Given the description of an element on the screen output the (x, y) to click on. 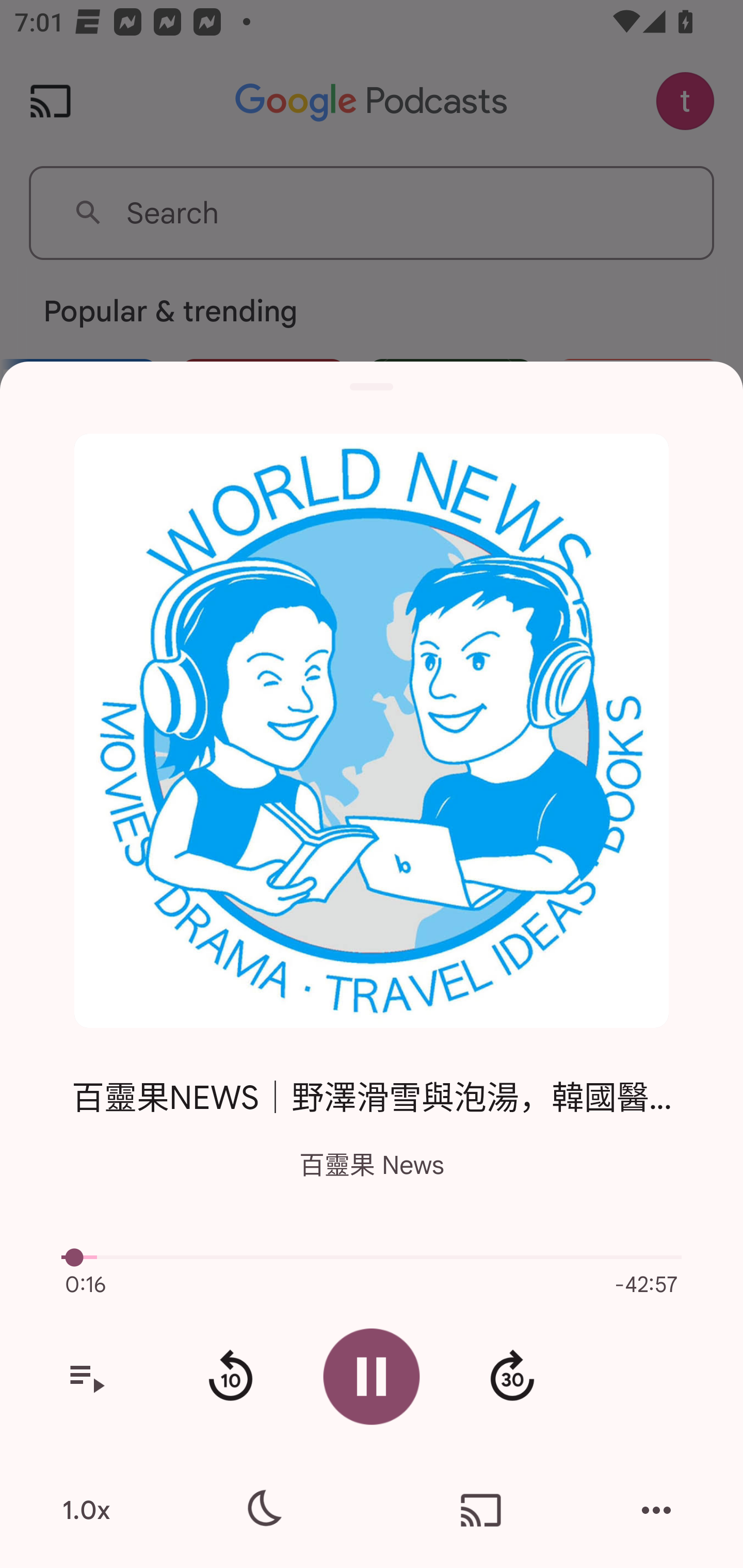
Open the show page for 百靈果 News (371, 731)
63.0 Current episode playback (371, 1257)
Pause (371, 1376)
View your queue (86, 1376)
Rewind 10 seconds (230, 1376)
Fast forward 30 second (511, 1376)
1.0x Playback speed is 1.0. (86, 1510)
Sleep timer settings (261, 1510)
Cast. Disconnected (480, 1510)
More actions (655, 1510)
